Given the description of an element on the screen output the (x, y) to click on. 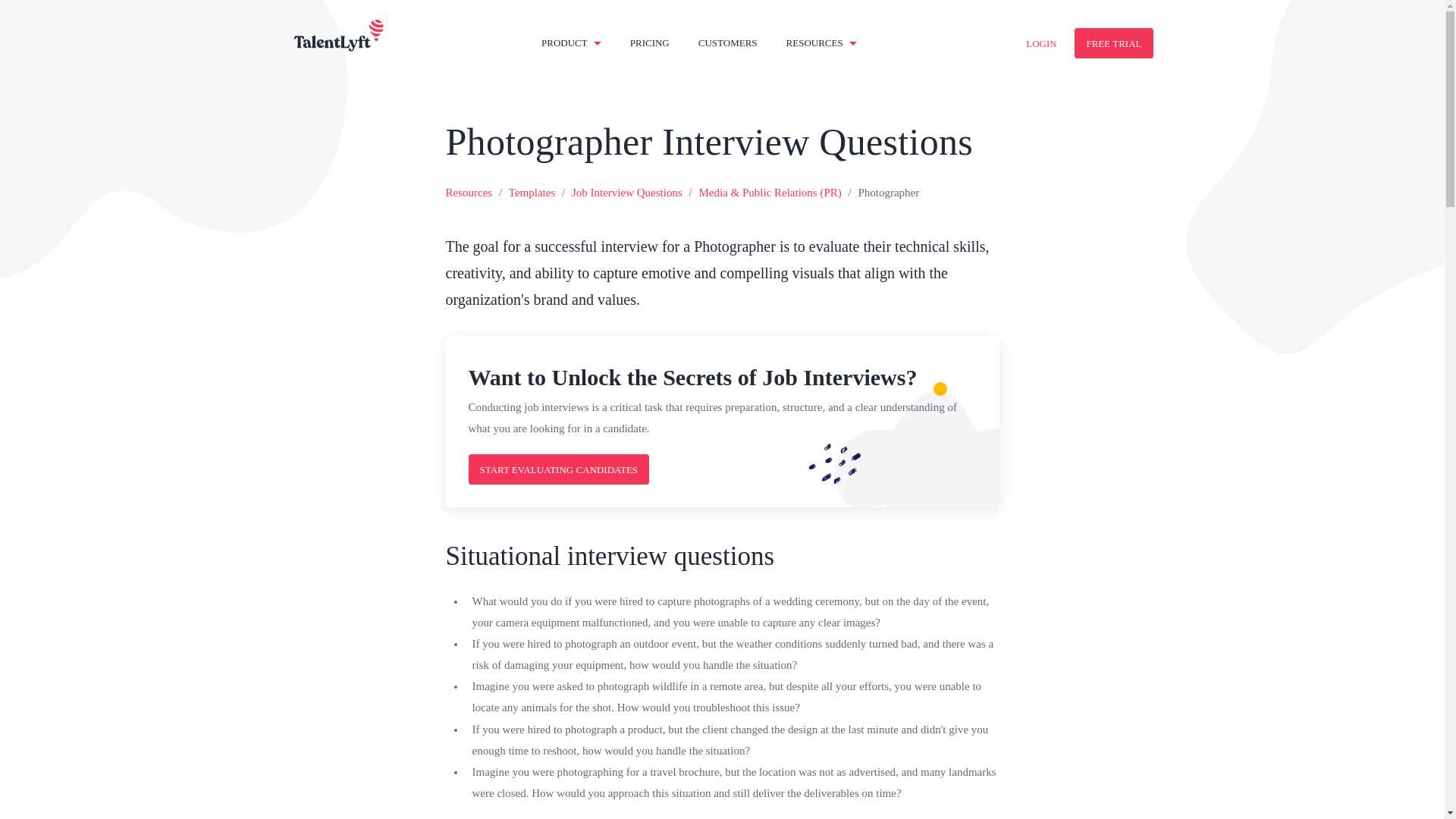
CUSTOMERS (727, 43)
PRICING (649, 43)
Job Interview Questions (627, 192)
Resources (469, 192)
Templates (531, 192)
RESOURCES (821, 43)
START EVALUATING CANDIDATES (558, 469)
LOGIN (1040, 42)
PRODUCT (571, 43)
FREE TRIAL (1113, 42)
